Given the description of an element on the screen output the (x, y) to click on. 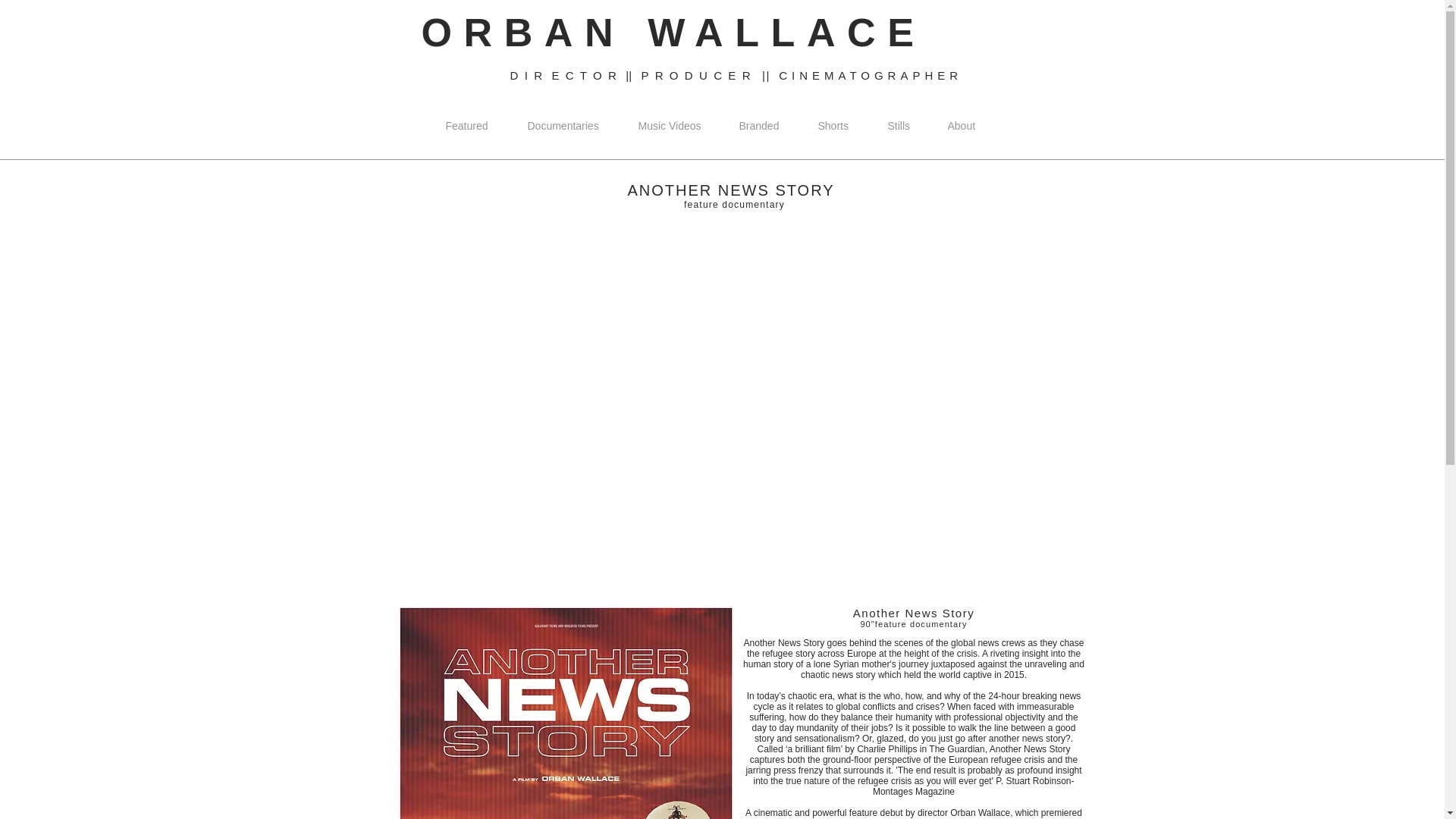
ORBAN WALLACE (674, 32)
Featured (467, 126)
Shorts (834, 126)
Screen Shot 2016-08-08 at 10.01.30.png (565, 712)
Branded (759, 126)
Music Videos (668, 126)
Documentaries (563, 126)
